Given the description of an element on the screen output the (x, y) to click on. 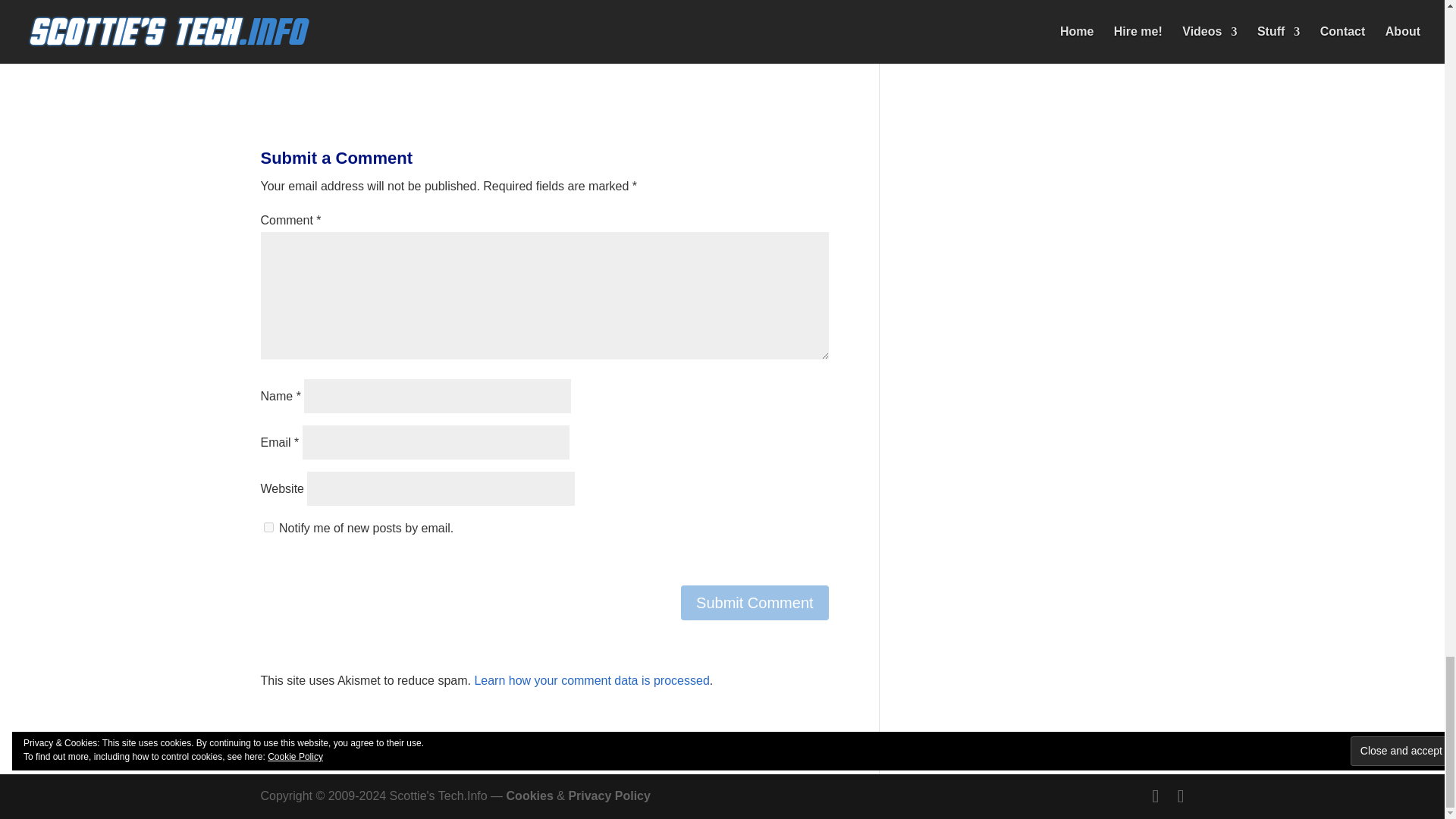
Submit Comment (754, 602)
Click to share on Facebook (363, 43)
subscribe (268, 527)
Click to share on Telegram (272, 43)
More (476, 44)
Click to share on Twitter (333, 43)
Click to share on WhatsApp (303, 43)
Get Scottie Support! (397, 4)
